Given the description of an element on the screen output the (x, y) to click on. 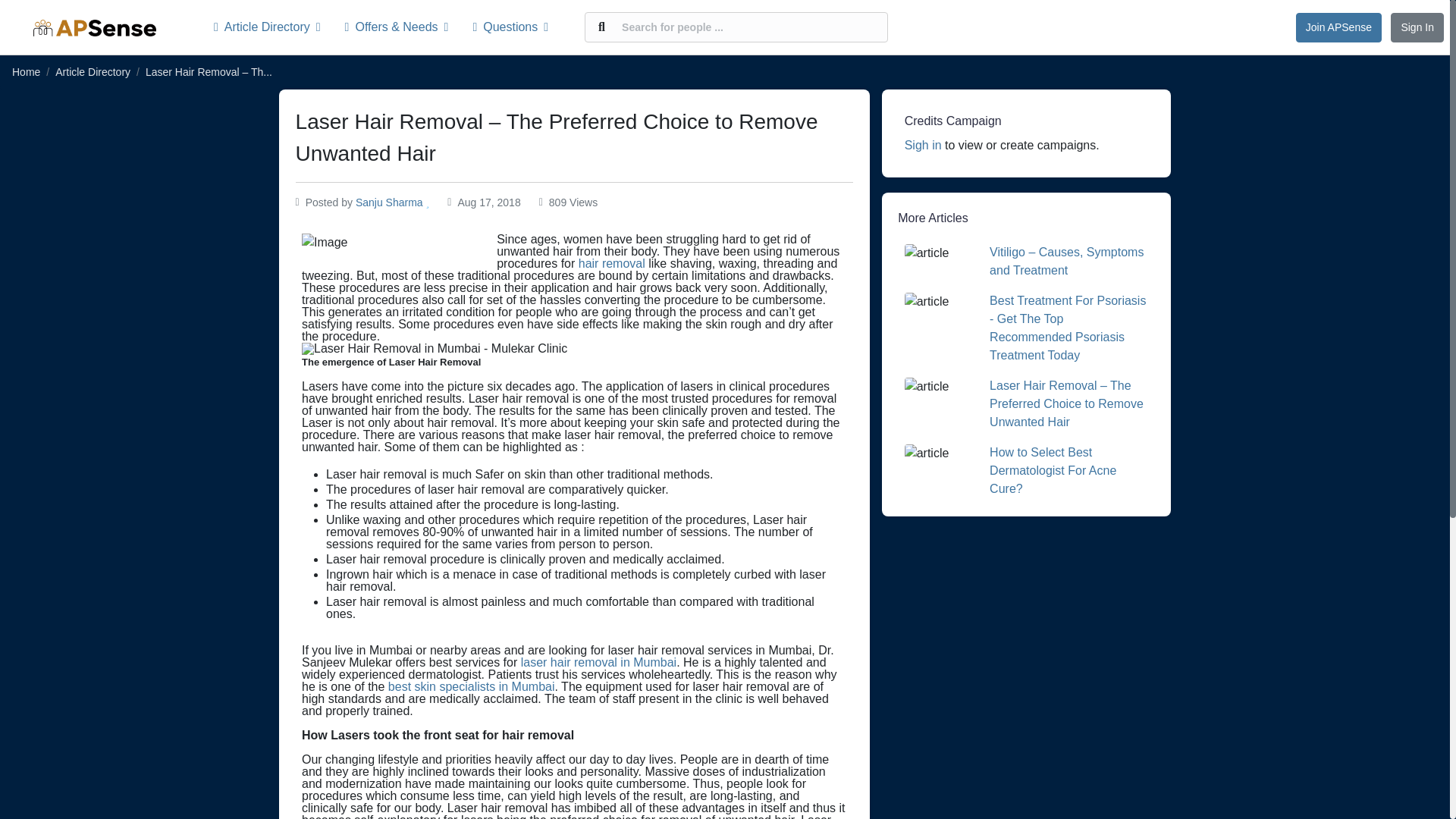
Article Directory (273, 27)
Home (25, 71)
Sigh in (923, 144)
Article Directory (93, 71)
Sign In (1417, 27)
Questions (510, 27)
Join APSense (1338, 27)
Sanju Sharma (389, 202)
How to Select Best Dermatologist For Acne Cure? (1053, 470)
